Given the description of an element on the screen output the (x, y) to click on. 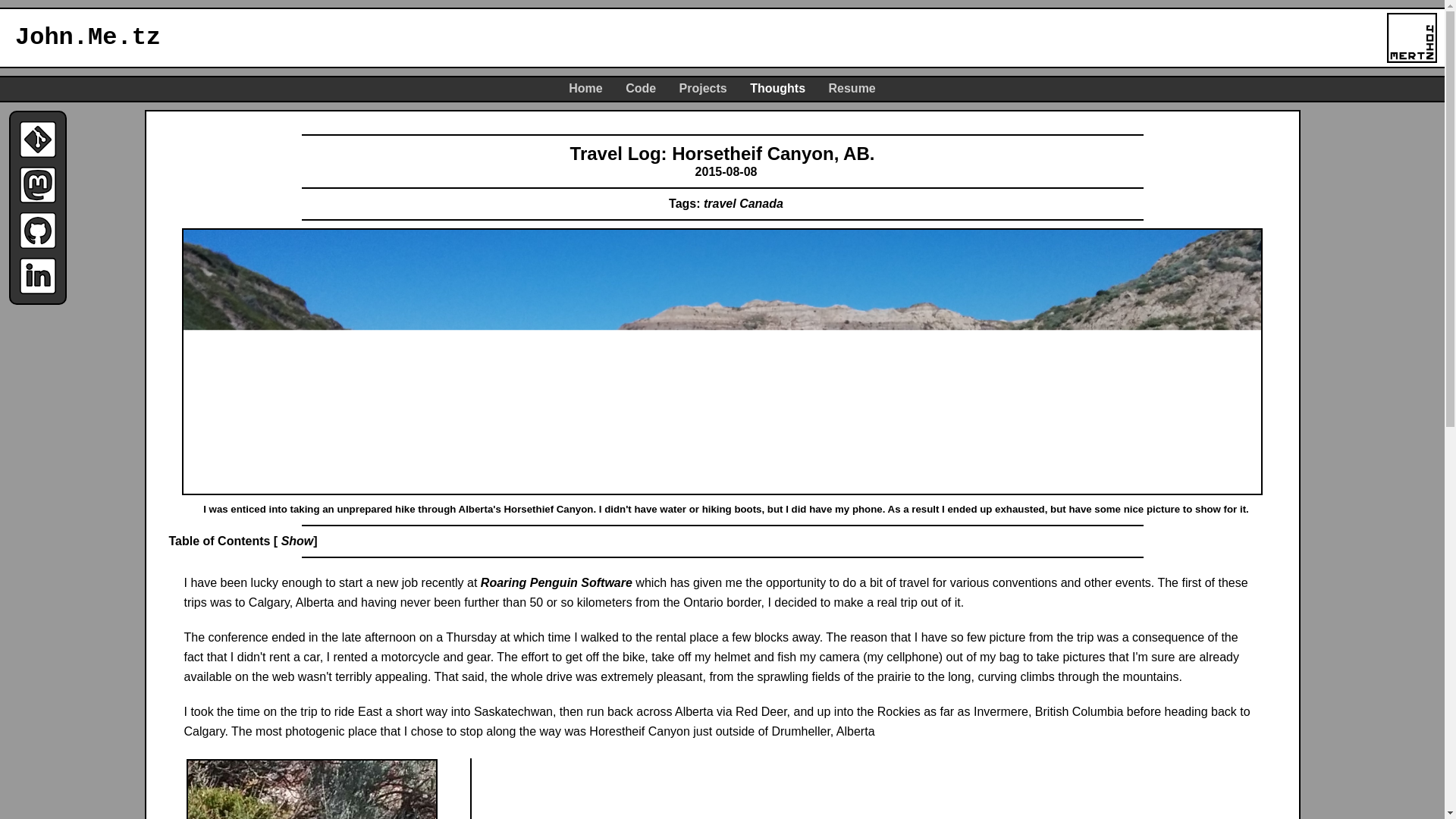
Roaring Penguin Software (555, 582)
GitHub Gists - Social Coding (38, 230)
Show (297, 540)
Canada (761, 203)
Projects (704, 88)
Mastodon Social on Fosstodon (38, 185)
Thoughts (778, 88)
Code (642, 88)
LinkedIn - Professional Networking (38, 275)
travel (719, 203)
